Given the description of an element on the screen output the (x, y) to click on. 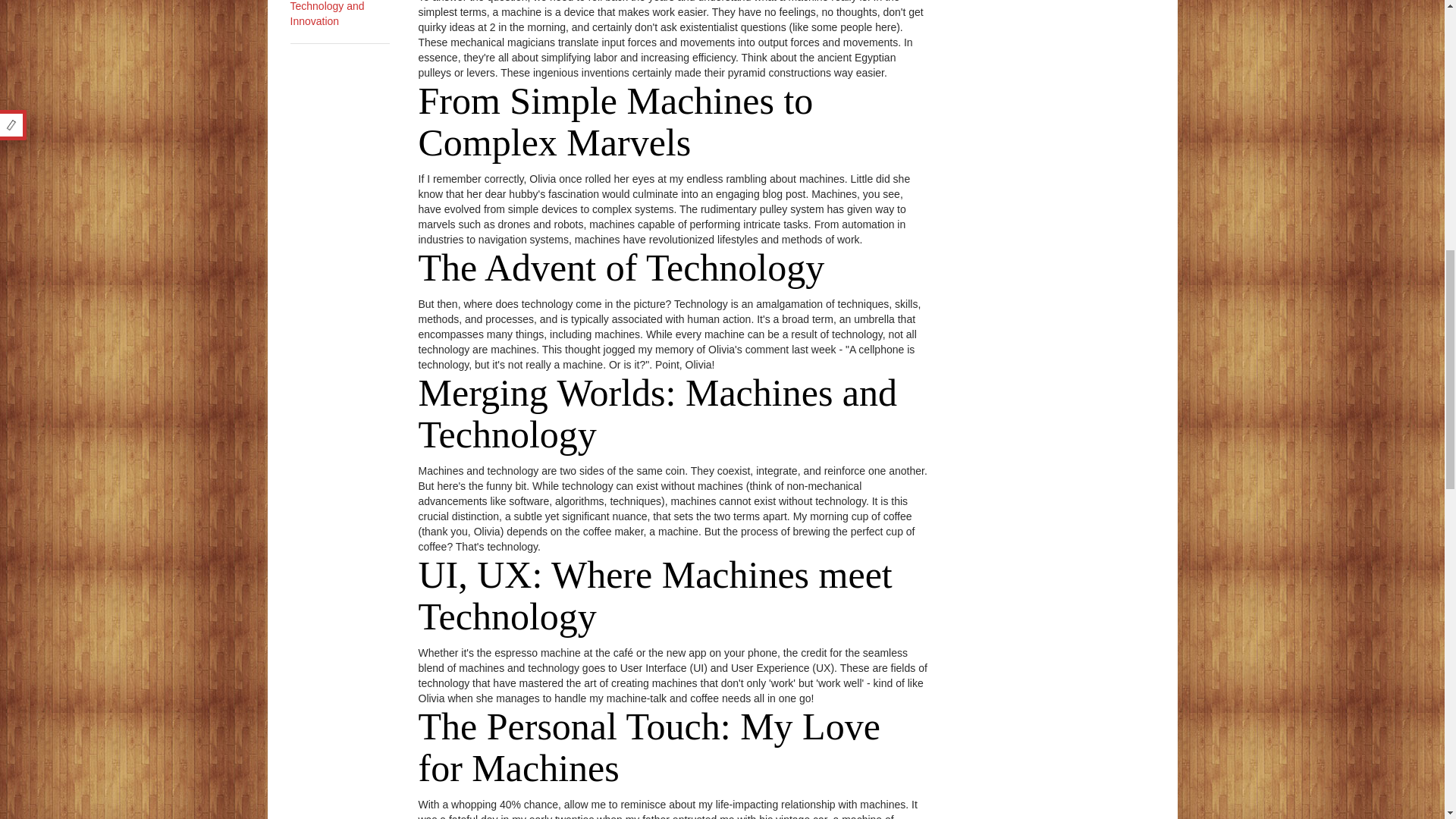
Technology and Innovation (326, 13)
